Given the description of an element on the screen output the (x, y) to click on. 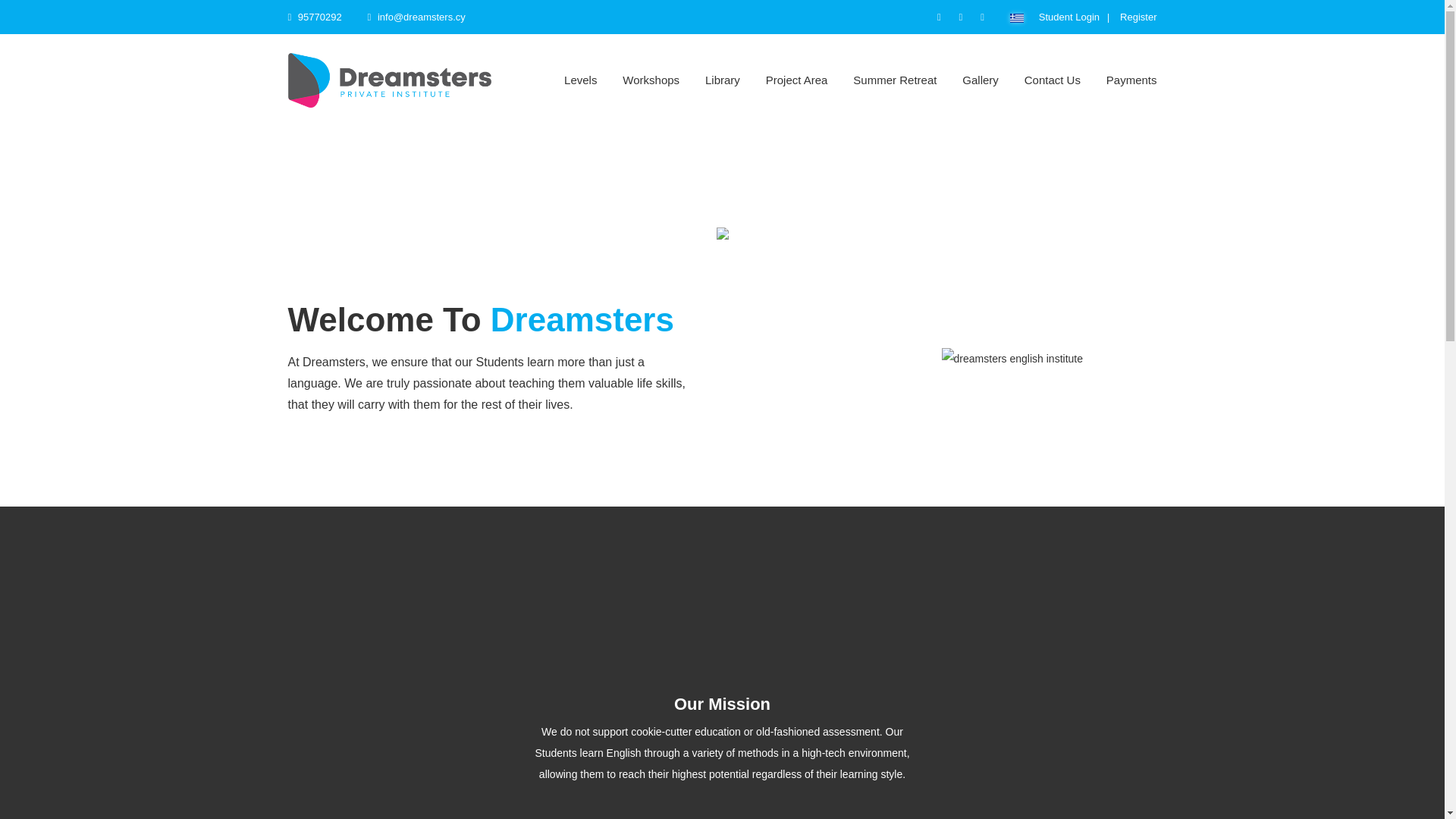
Gallery (980, 79)
Project Area (796, 79)
Student Login (1069, 16)
Contact Us (1052, 79)
Levels (580, 79)
Workshops (651, 79)
Payments (1131, 79)
95770292 (315, 16)
Summer Retreat (894, 79)
Register (1137, 16)
